Given the description of an element on the screen output the (x, y) to click on. 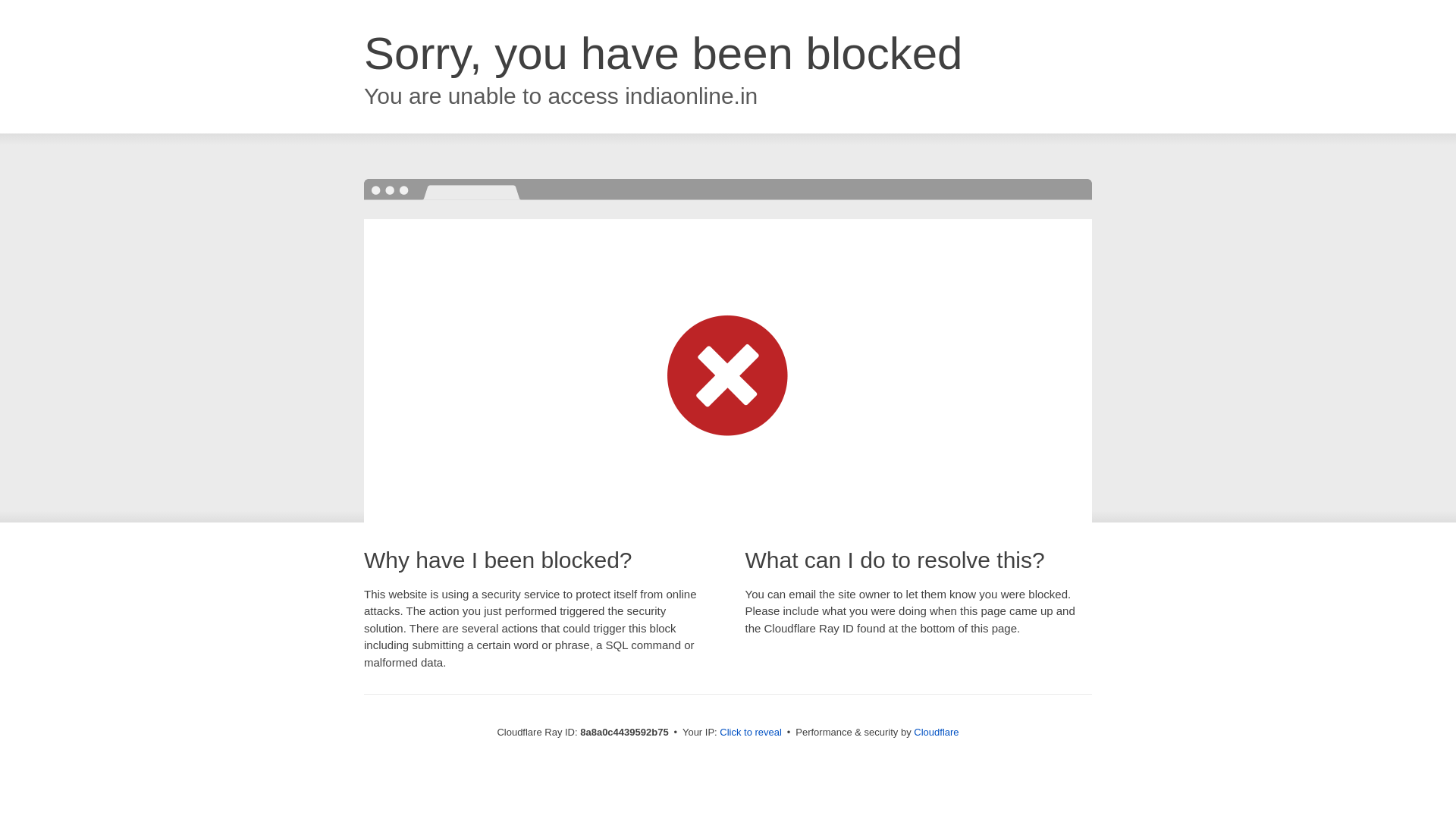
Cloudflare (936, 731)
Click to reveal (750, 732)
